Given the description of an element on the screen output the (x, y) to click on. 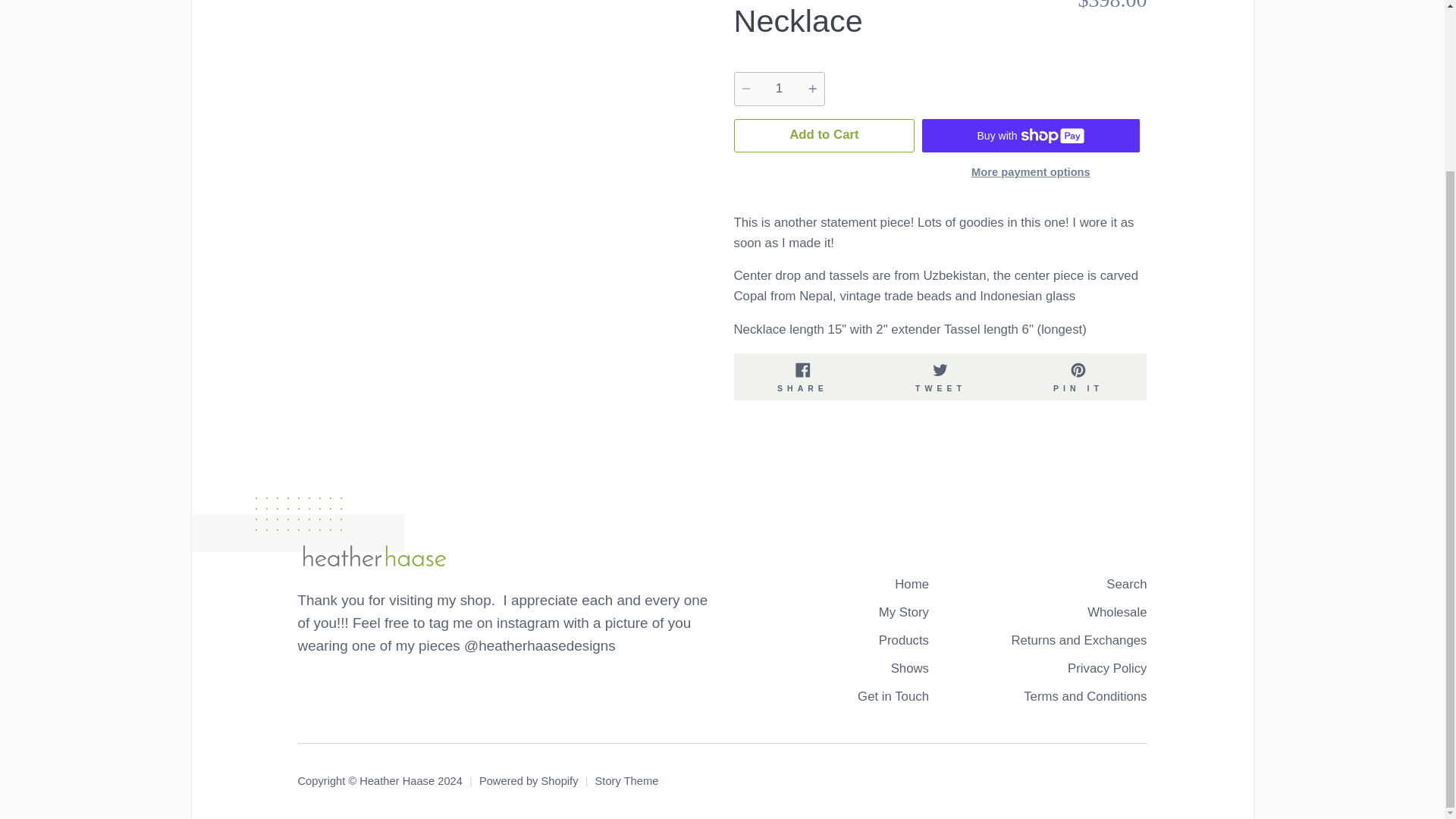
Home (802, 376)
Add to Cart (941, 376)
1 (911, 585)
My Story (824, 135)
